Given the description of an element on the screen output the (x, y) to click on. 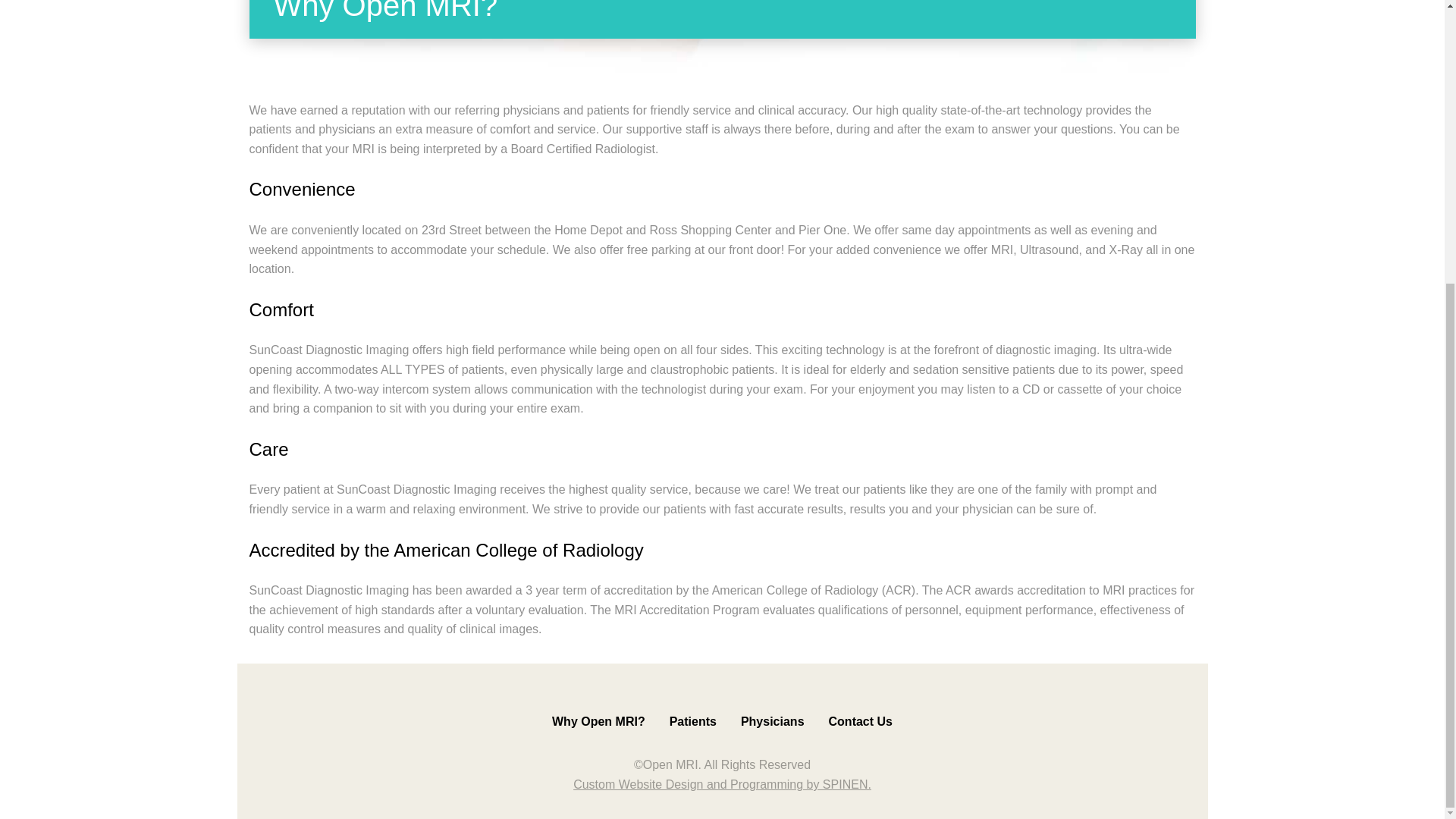
Custom Website Design and Programming by SPINEN. (721, 784)
Physicians (773, 721)
Contact Us (860, 721)
Patients (692, 721)
Why Open MRI? (598, 721)
